Given the description of an element on the screen output the (x, y) to click on. 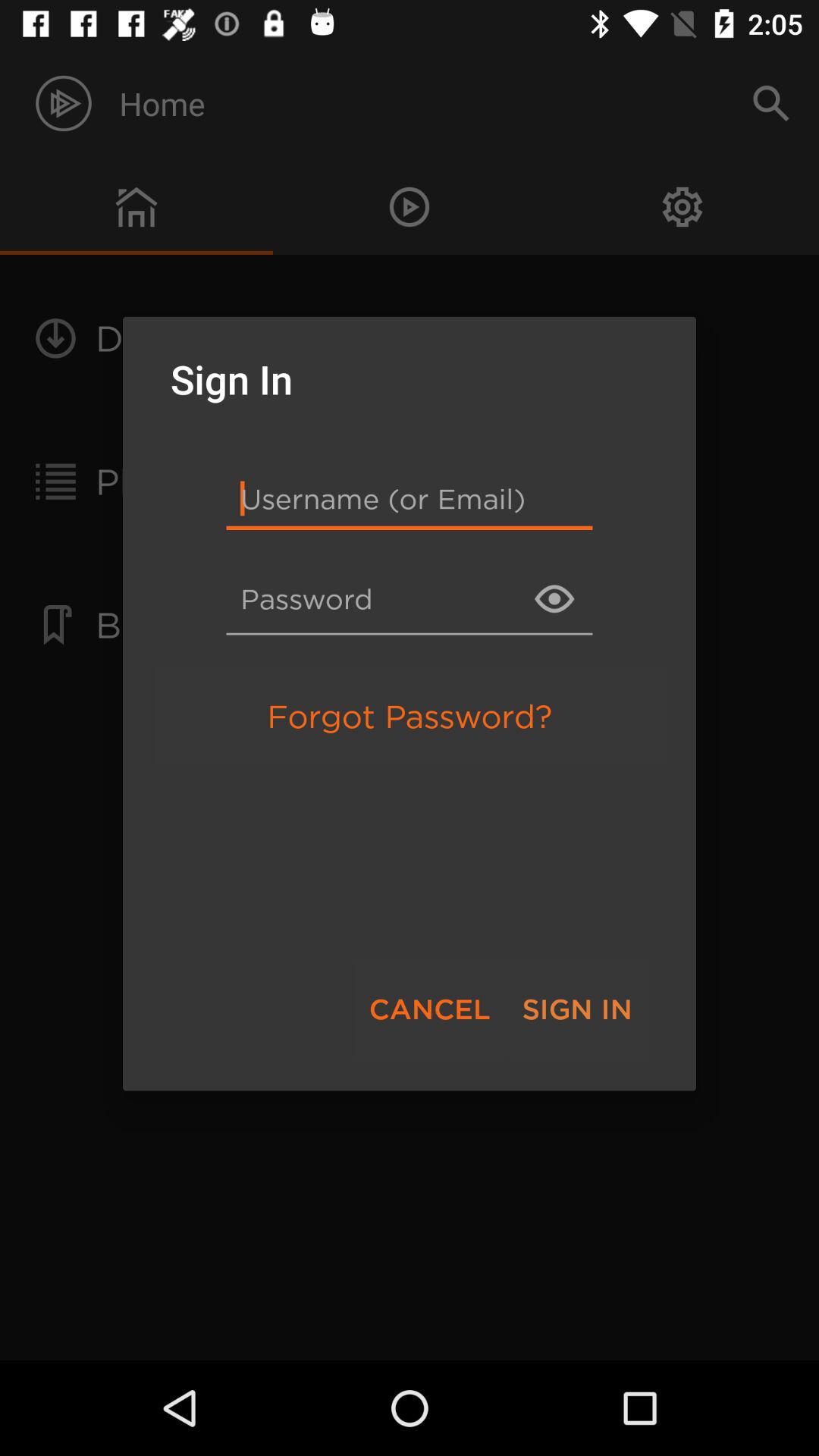
launch the item next to the sign in icon (429, 1009)
